Given the description of an element on the screen output the (x, y) to click on. 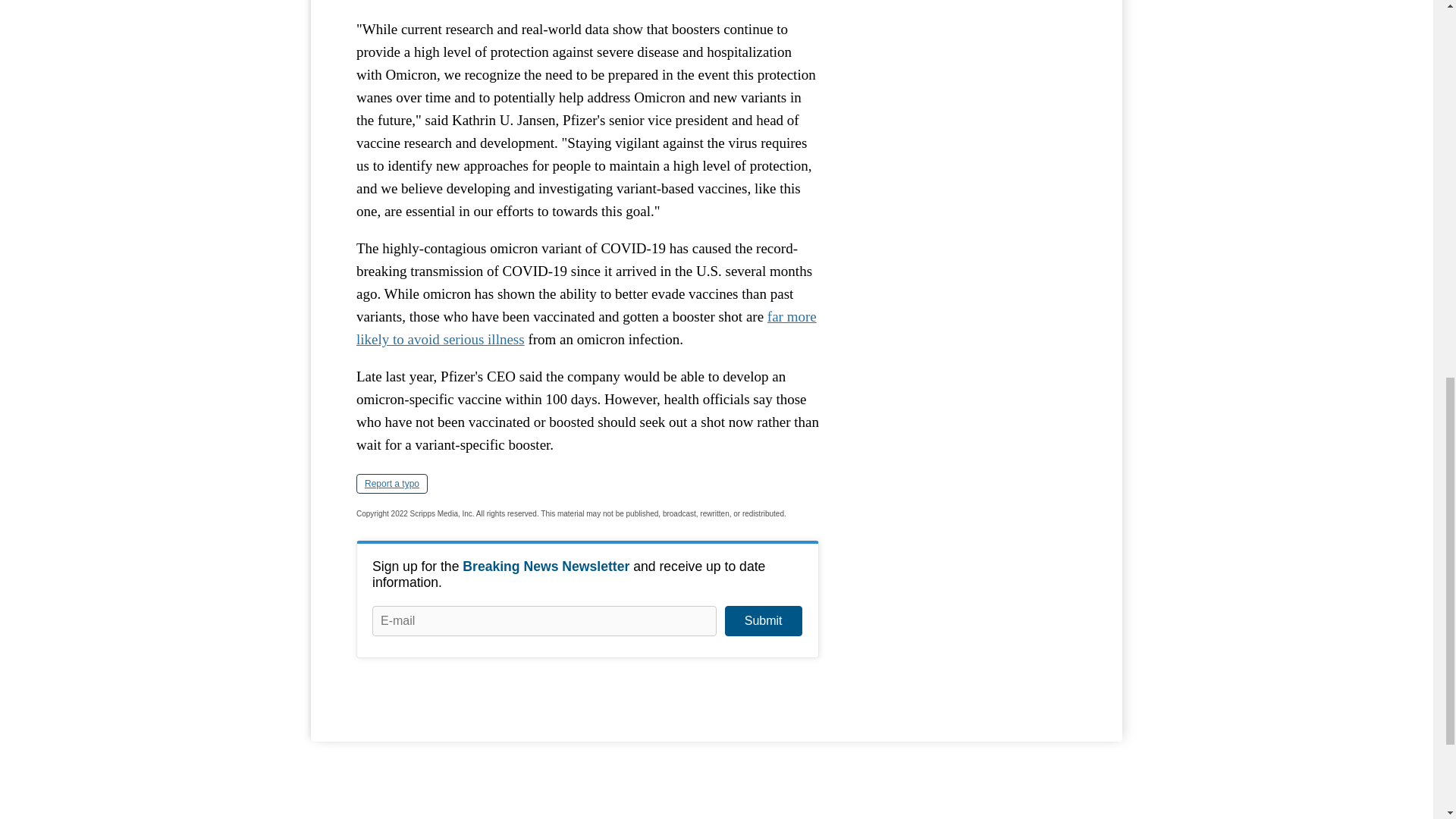
Submit (763, 621)
